Given the description of an element on the screen output the (x, y) to click on. 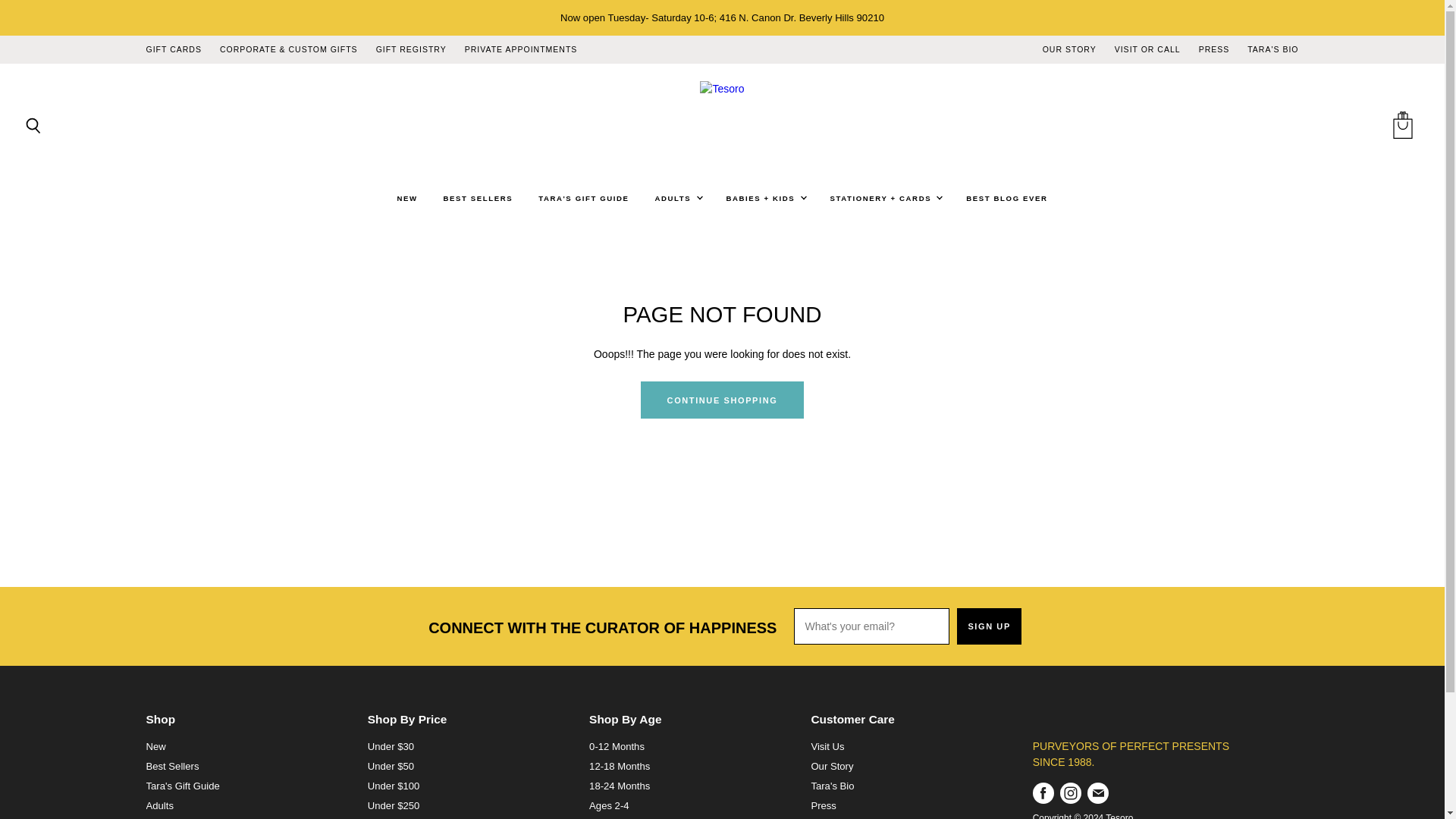
GIFT REGISTRY (410, 50)
Instagram (1070, 792)
TARA'S BIO (1272, 50)
Search (33, 126)
NEW (406, 198)
E-mail (1098, 792)
PRIVATE APPOINTMENTS (521, 50)
GIFT CARDS (172, 50)
BEST SELLERS (478, 198)
View cart (1401, 126)
